Given the description of an element on the screen output the (x, y) to click on. 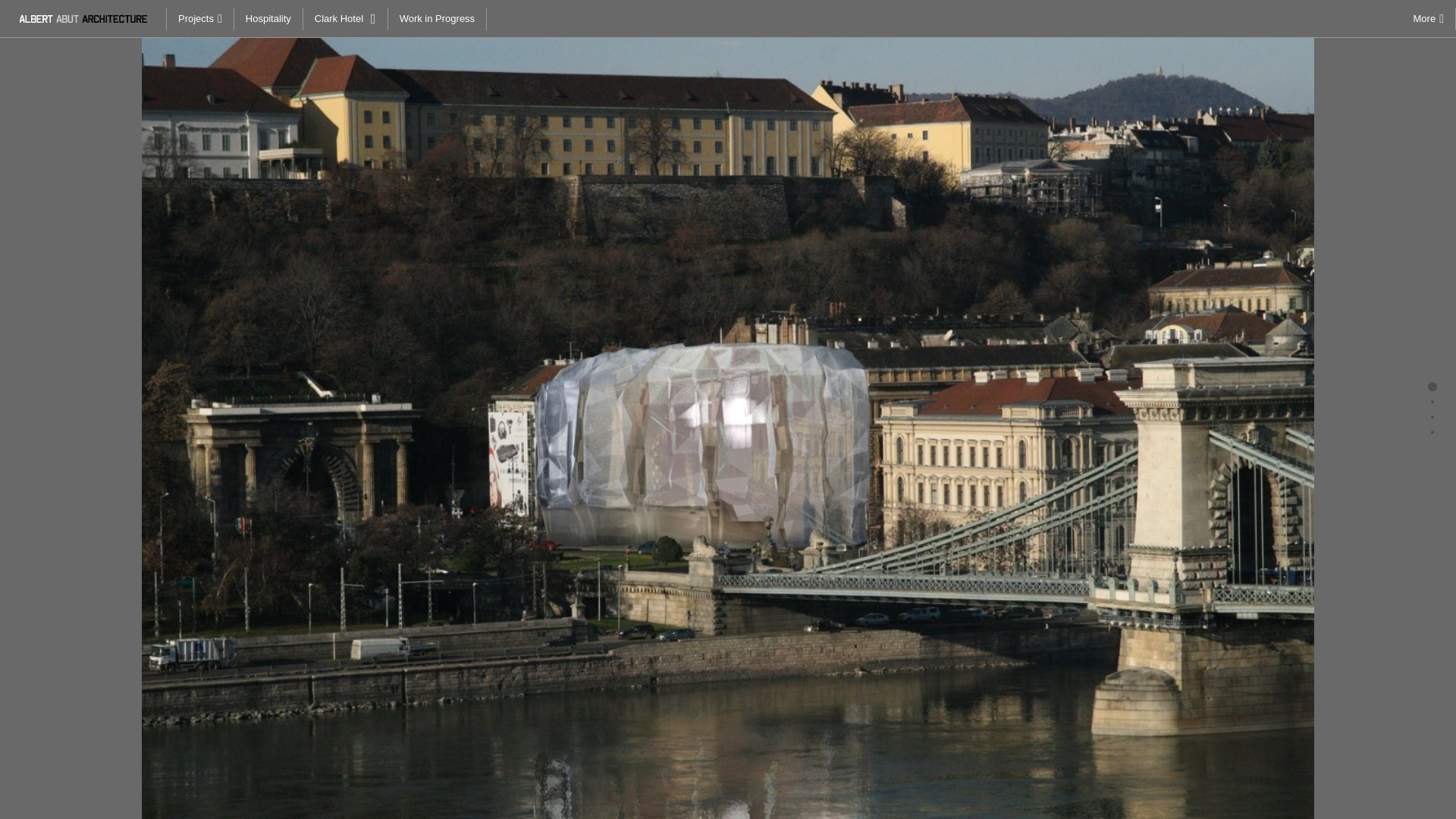
Hospitality (268, 18)
Work in Progress (436, 18)
